Given the description of an element on the screen output the (x, y) to click on. 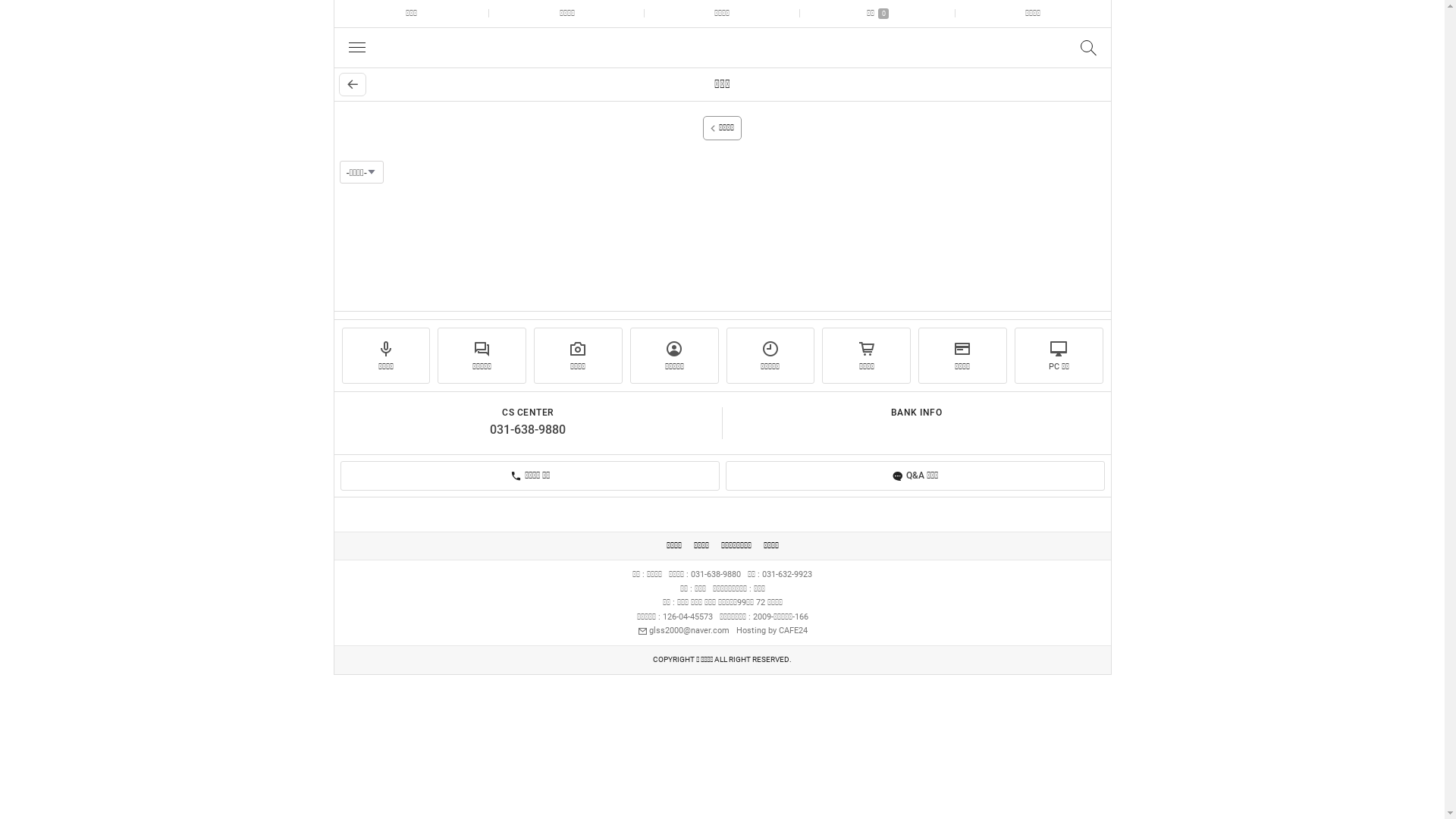
glss2000@naver.com Element type: text (682, 630)
